Given the description of an element on the screen output the (x, y) to click on. 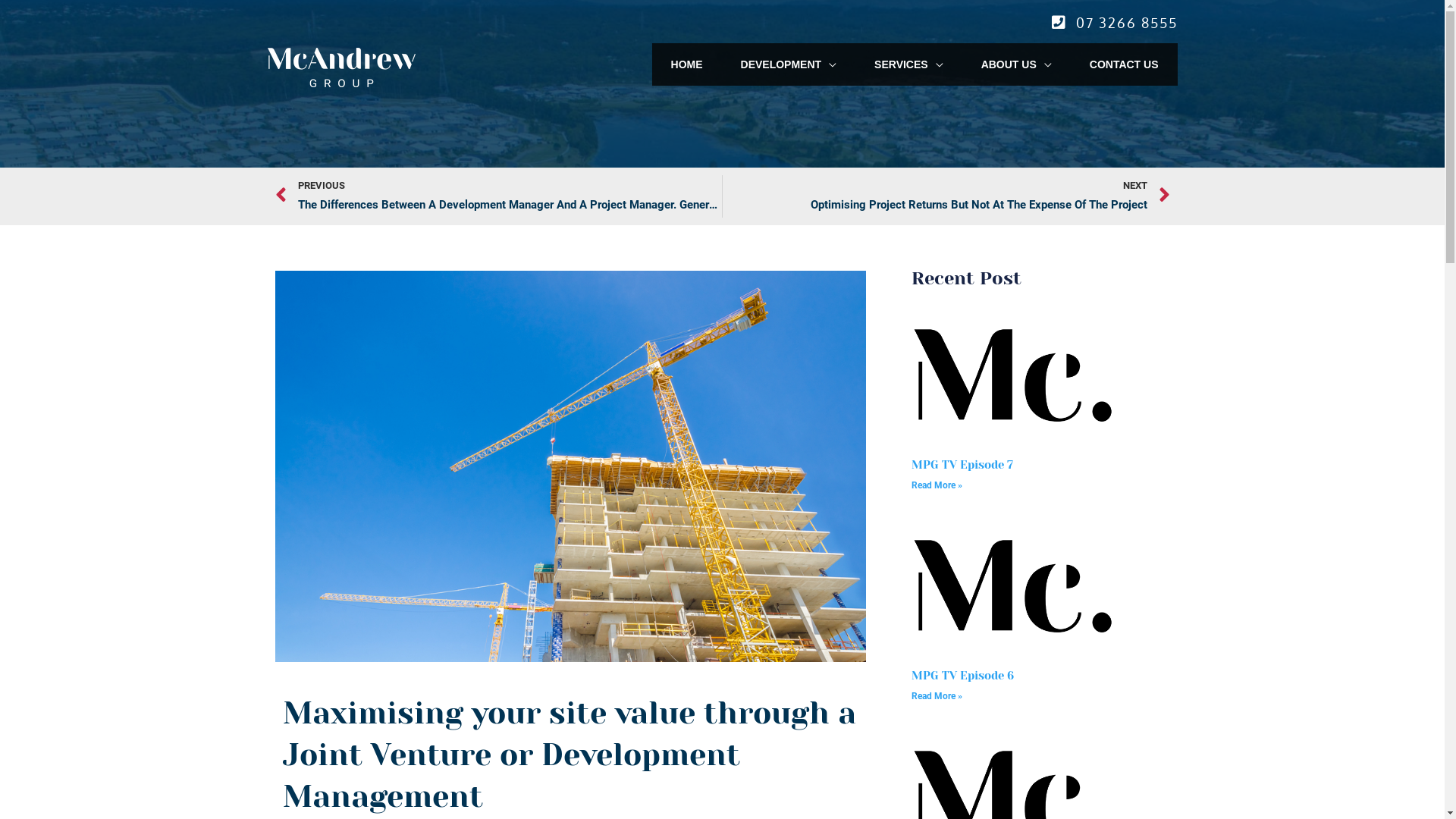
MPG TV Episode 7 Element type: text (962, 464)
HOME Element type: text (686, 64)
ABOUT US Element type: text (1016, 64)
MPG TV Episode 6 Element type: text (962, 675)
SERVICES Element type: text (908, 64)
CONTACT US Element type: text (1123, 64)
DEVELOPMENT Element type: text (788, 64)
07 3266 8555 Element type: text (1125, 22)
